Given the description of an element on the screen output the (x, y) to click on. 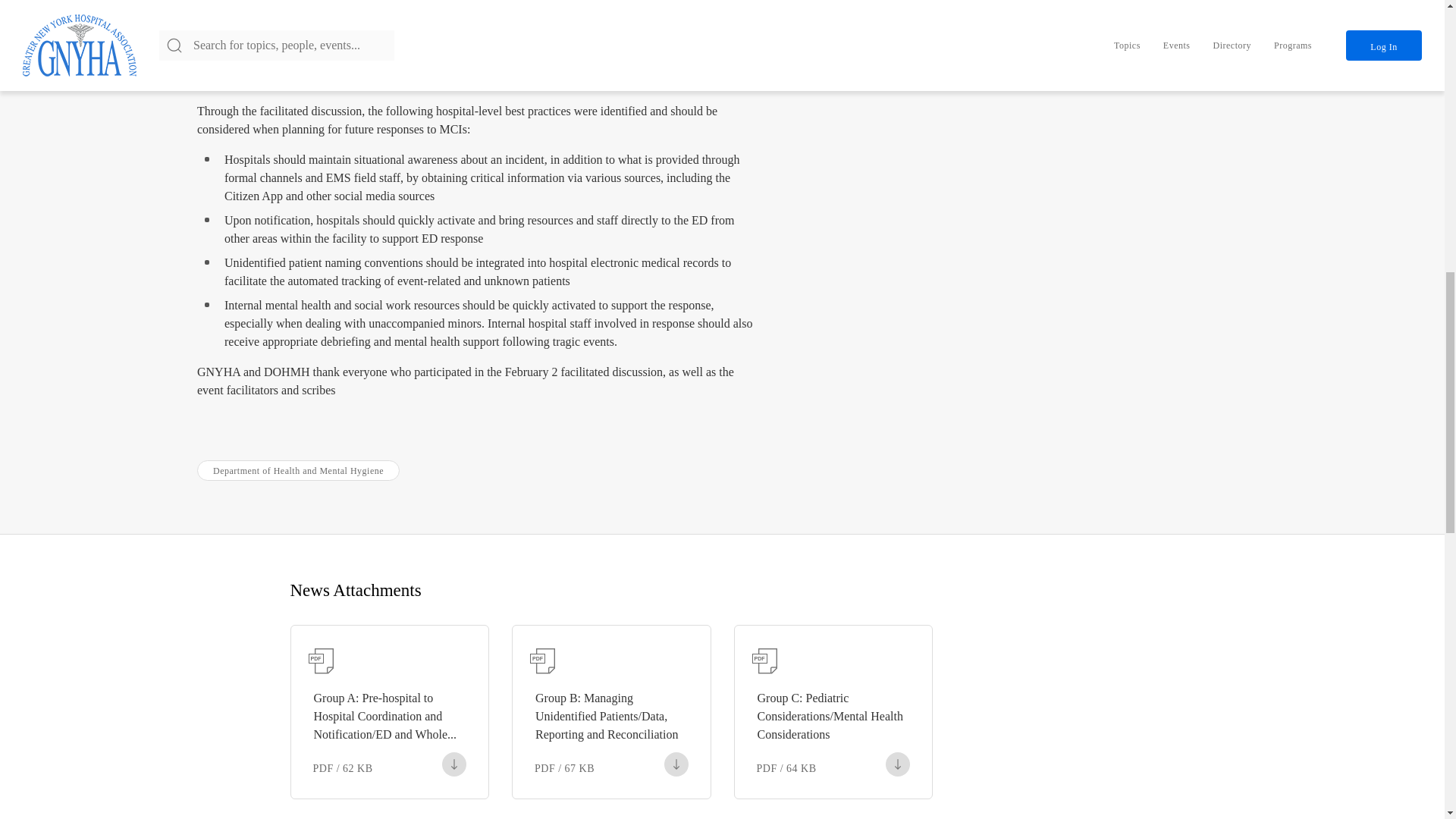
Department of Health and Mental Hygiene (297, 470)
